Given the description of an element on the screen output the (x, y) to click on. 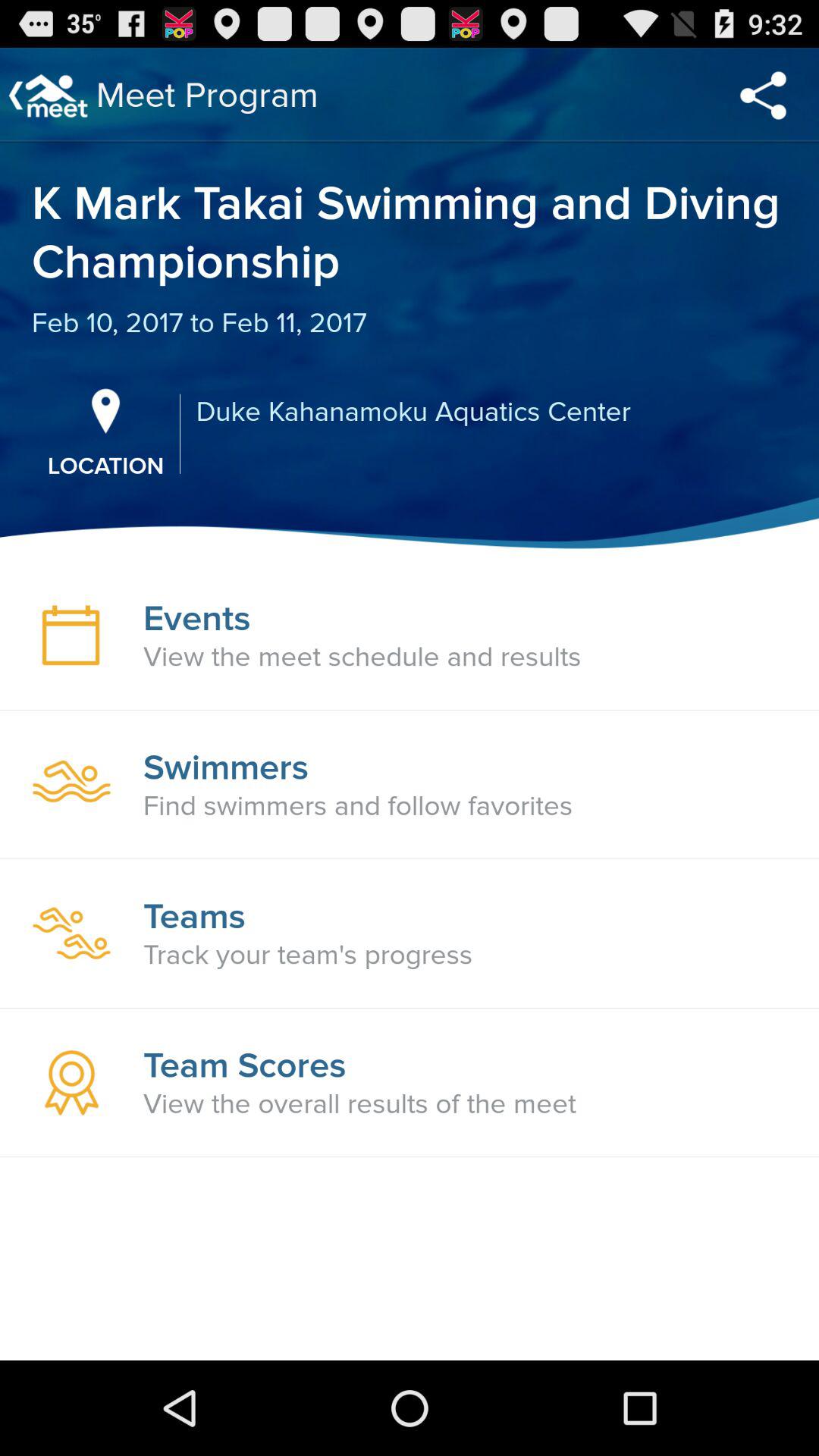
swipe to the track your team icon (307, 954)
